Given the description of an element on the screen output the (x, y) to click on. 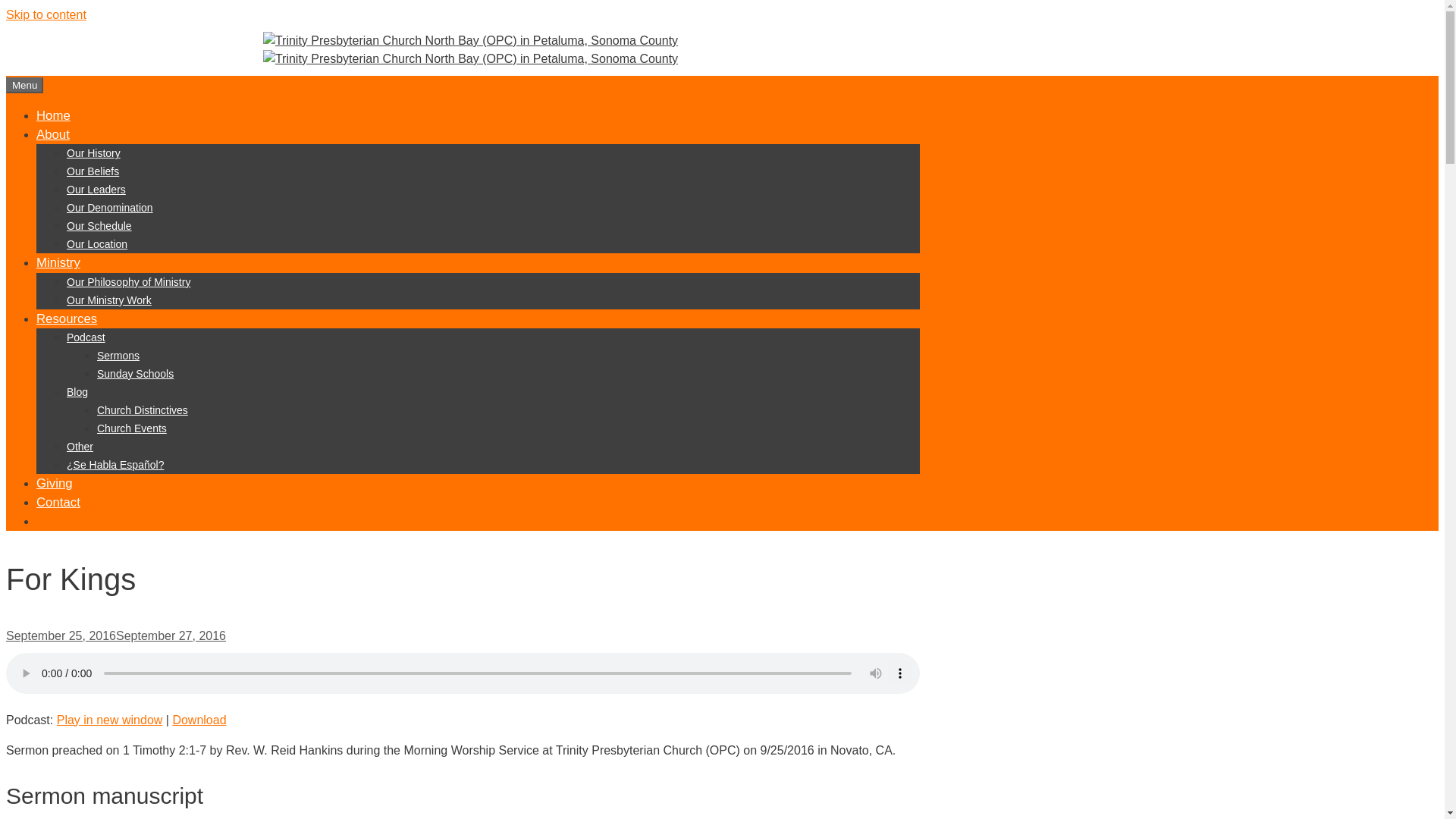
Our Location (97, 244)
Our Ministry Work (108, 300)
Listen to or read our sermons online (118, 355)
Our Denomination (109, 207)
Blog (76, 391)
Download (198, 719)
Ministry (58, 262)
Our Leaders (95, 189)
Resources (66, 318)
Skip to content (45, 14)
Skip to content (45, 14)
September 25, 2016September 27, 2016 (115, 635)
Sunday Schools (135, 373)
4:00 pm (115, 635)
Download (198, 719)
